Given the description of an element on the screen output the (x, y) to click on. 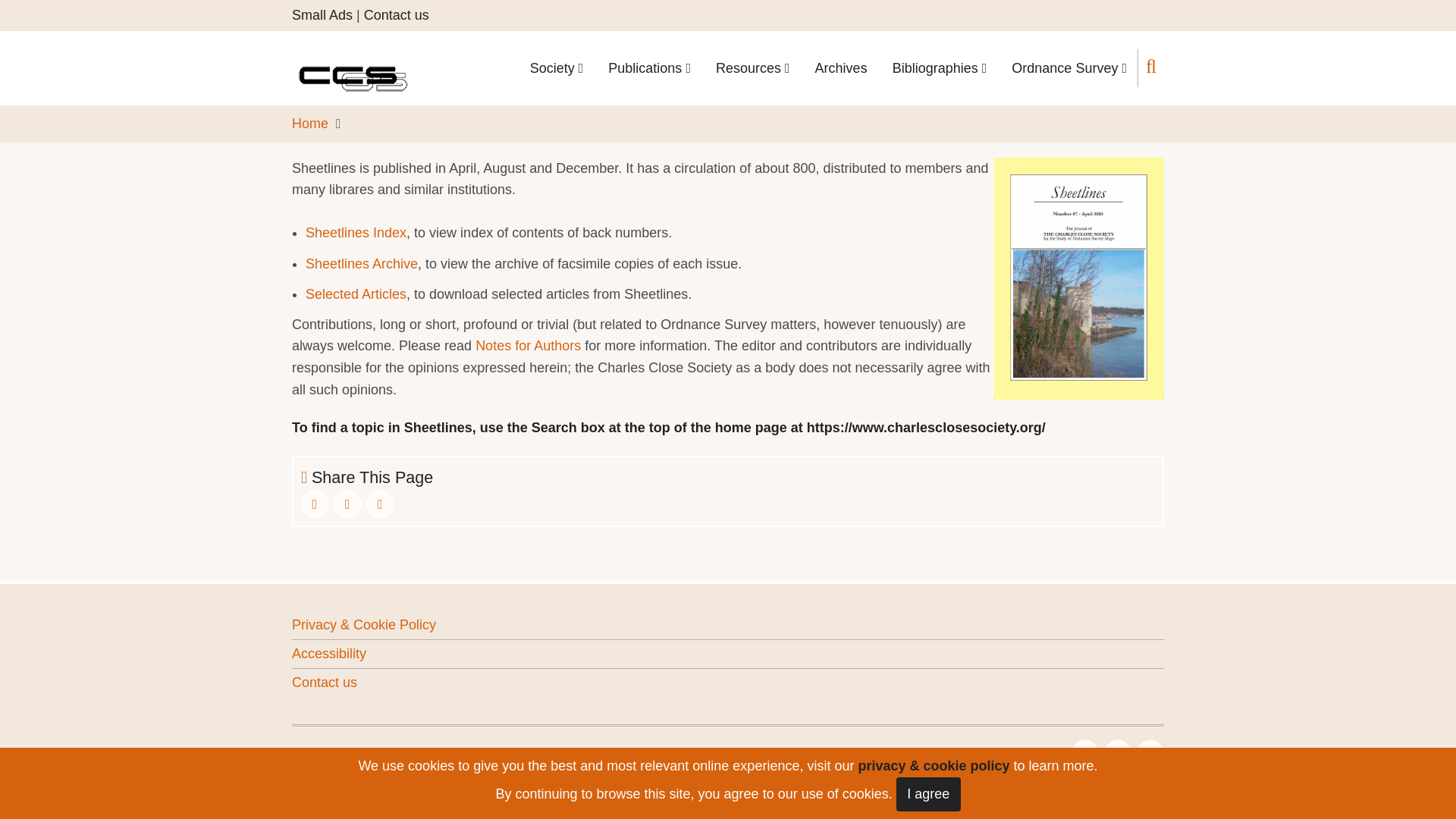
Small Ads (322, 14)
Resources (752, 67)
Publications (648, 67)
Contact us (396, 14)
Society (556, 67)
Home (365, 67)
